Given the description of an element on the screen output the (x, y) to click on. 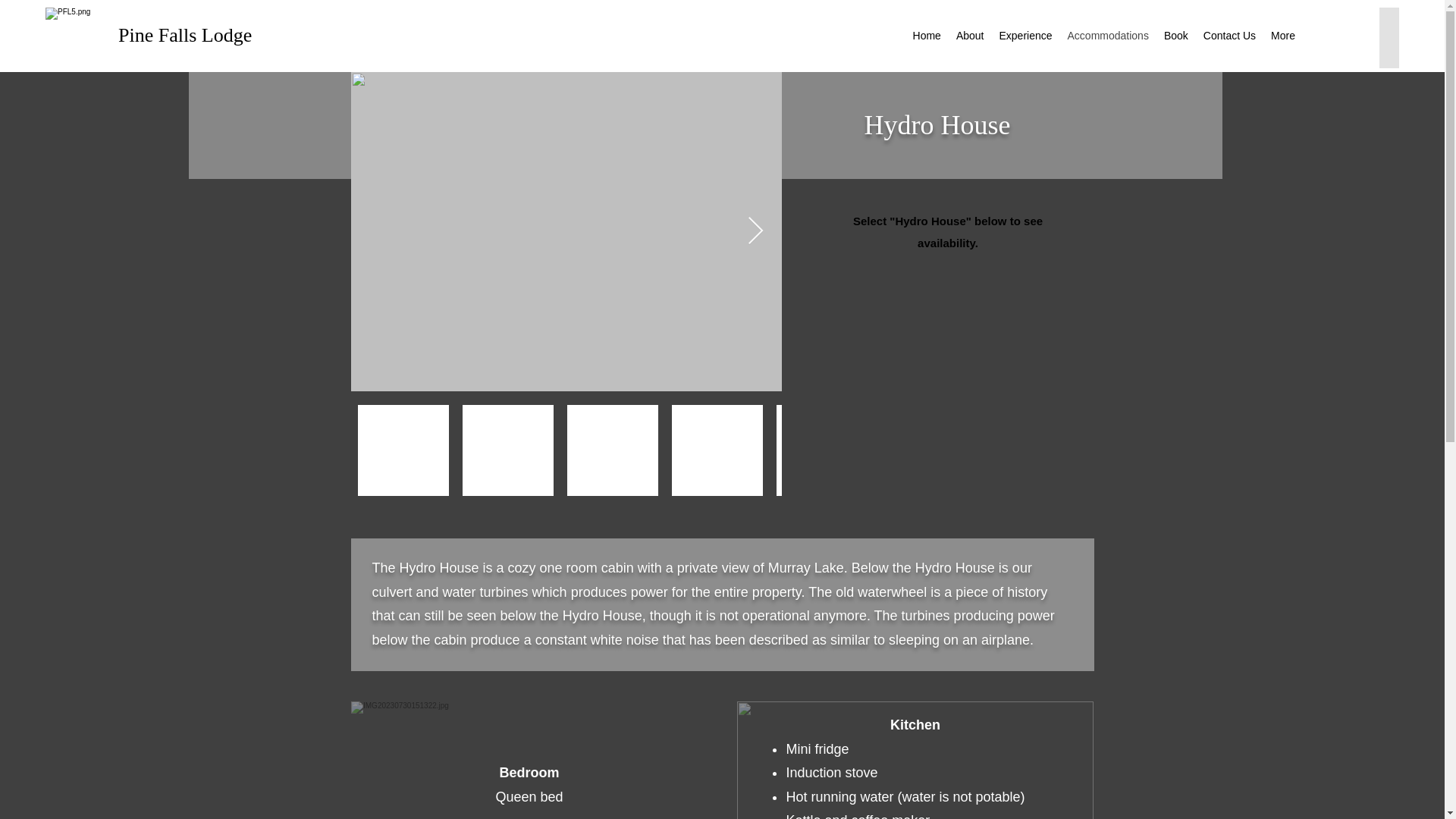
Book (1175, 37)
Accommodations (1107, 37)
Home (927, 37)
Experience (1025, 37)
Contact Us (1229, 37)
Pine Falls Lodge (184, 34)
About (970, 37)
